Given the description of an element on the screen output the (x, y) to click on. 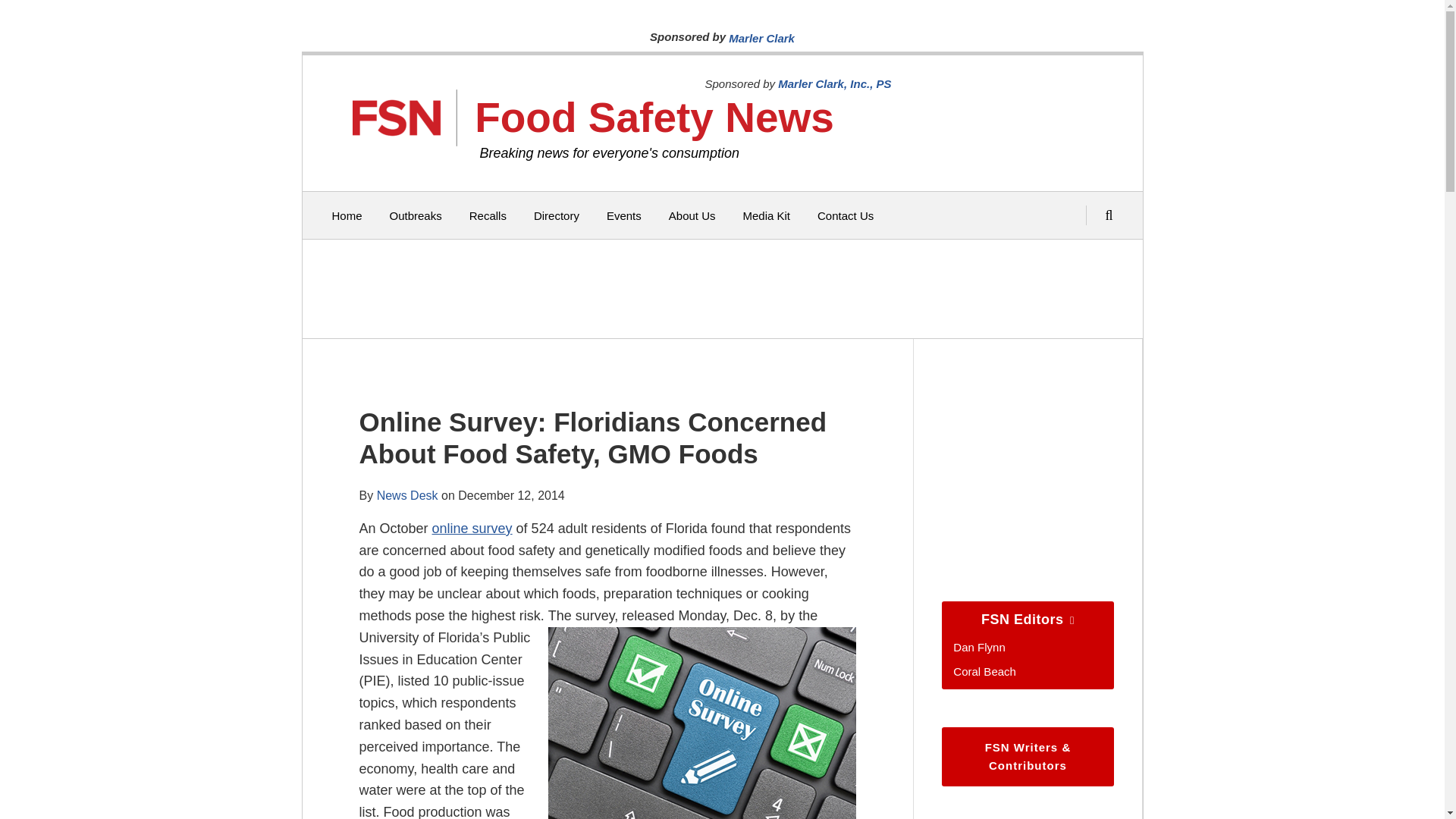
online survey (472, 528)
Outbreaks (416, 215)
Marler Clark (761, 38)
Contact Us (844, 215)
Events (624, 215)
News Desk (407, 494)
Marler Clark, Inc., PS (834, 83)
Food Safety News (654, 117)
Home (346, 215)
Recalls (487, 215)
Media Kit (766, 215)
About Us (692, 215)
Directory (556, 215)
